Given the description of an element on the screen output the (x, y) to click on. 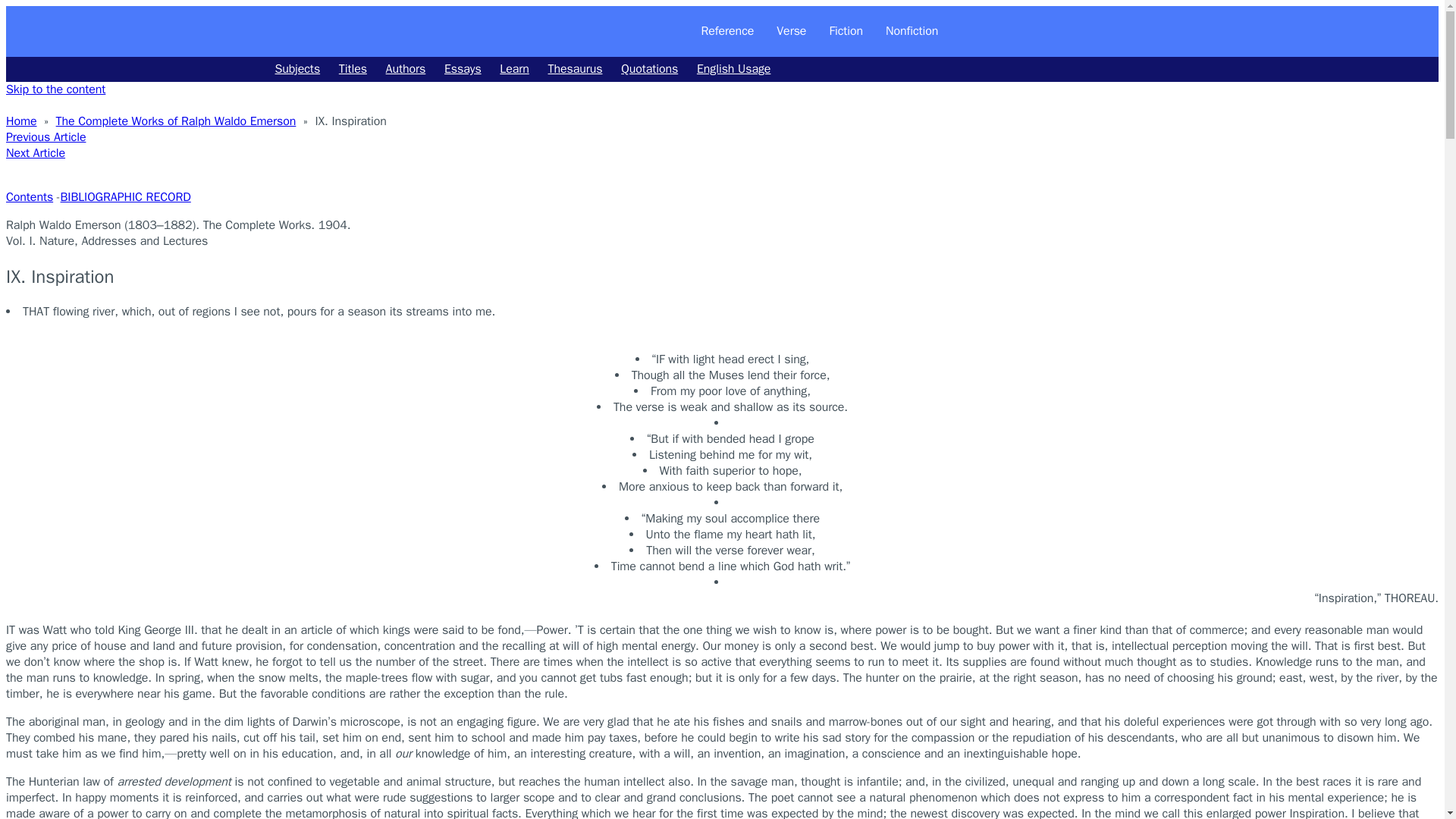
Next Article (35, 152)
English Usage (733, 68)
BIBLIOGRAPHIC RECORD (125, 196)
Subjects (297, 68)
Nonfiction (912, 30)
Fiction (845, 30)
Home (21, 120)
Titles (352, 68)
Previous Article (45, 136)
Skip to the content (54, 89)
Essays (462, 68)
Authors (405, 68)
Reference (727, 30)
Thesaurus (575, 68)
The Complete Works of Ralph Waldo Emerson (176, 120)
